Given the description of an element on the screen output the (x, y) to click on. 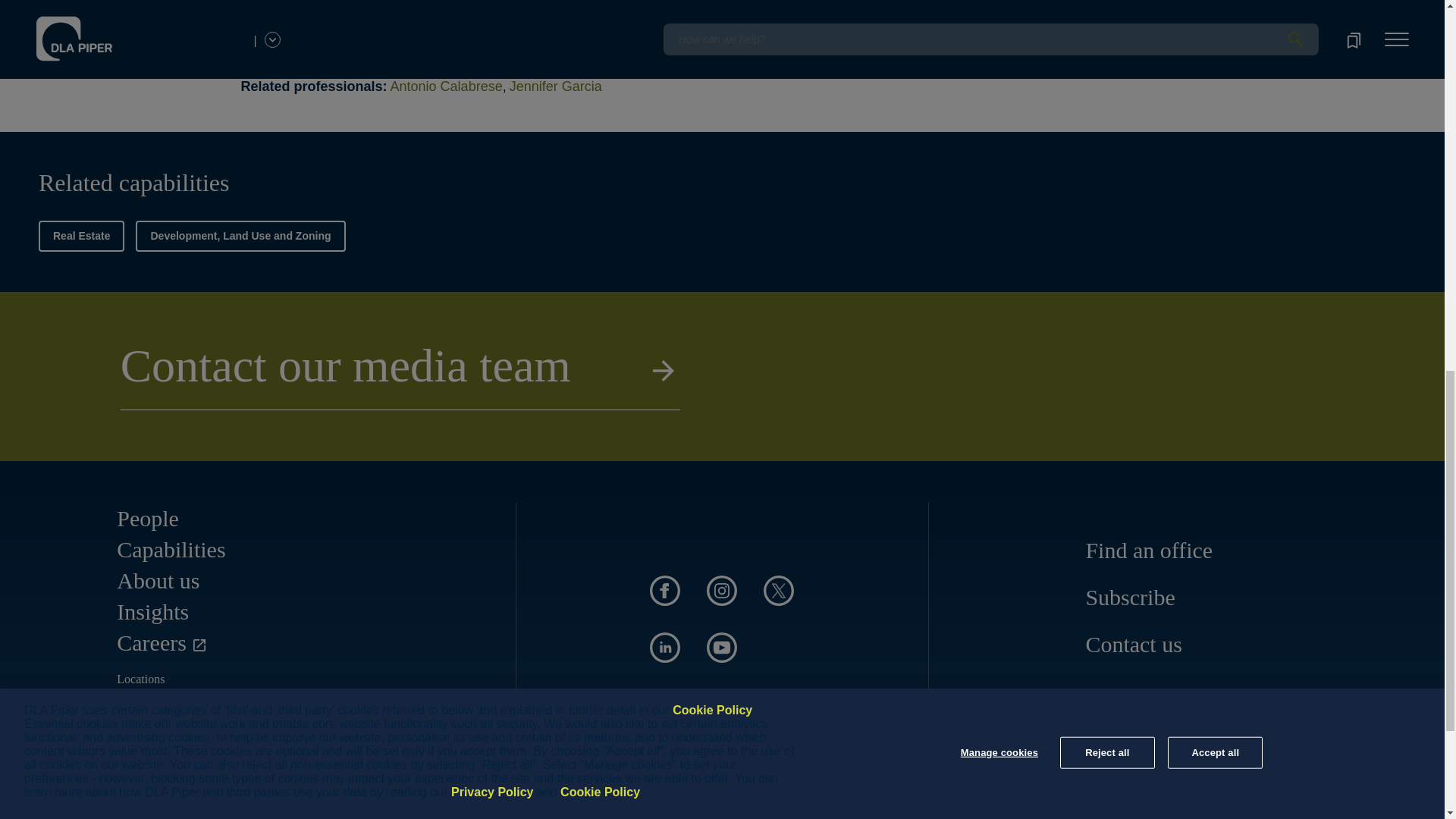
external (1024, 815)
